Given the description of an element on the screen output the (x, y) to click on. 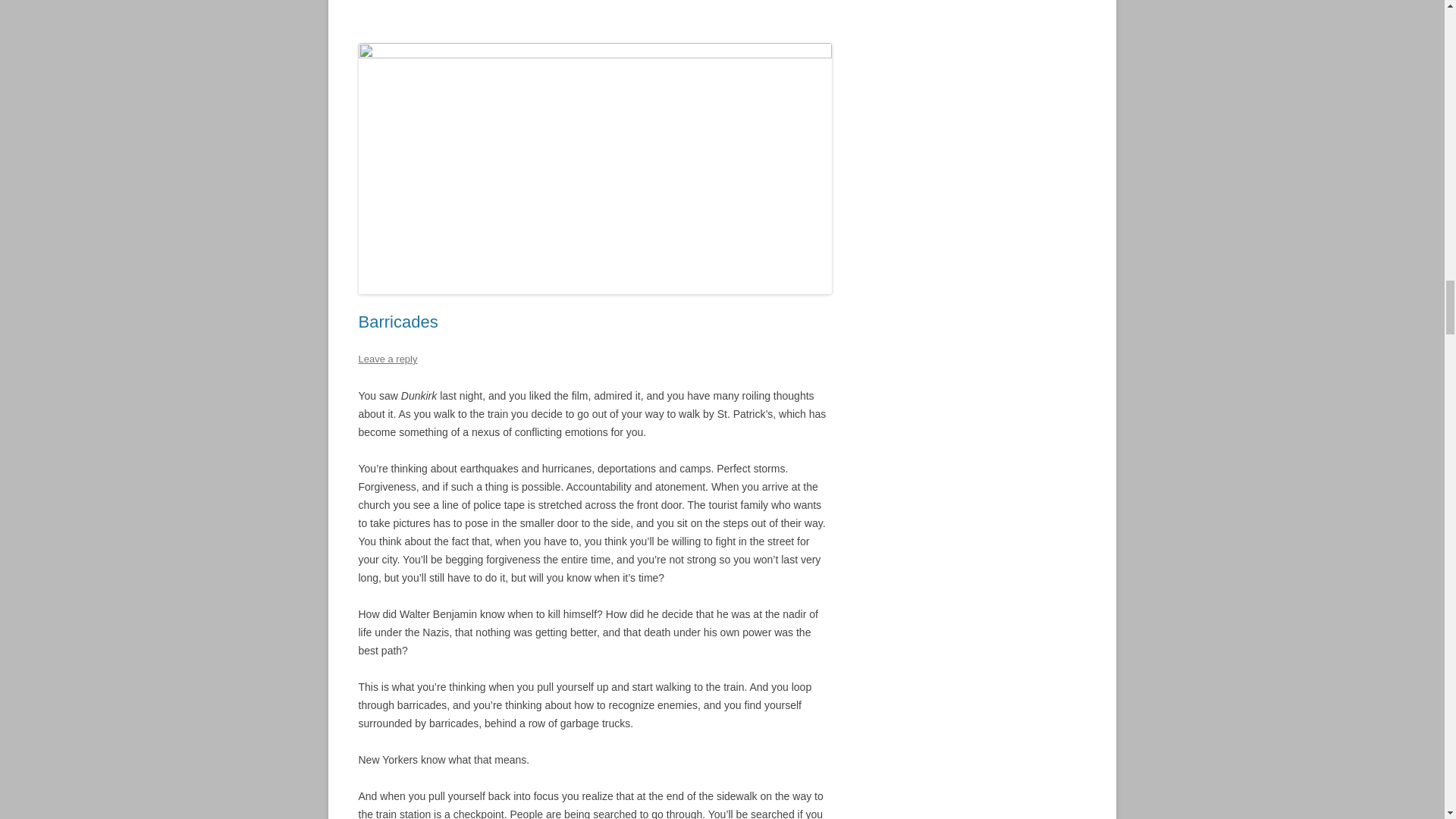
Barricades (398, 321)
Leave a reply (387, 358)
